Given the description of an element on the screen output the (x, y) to click on. 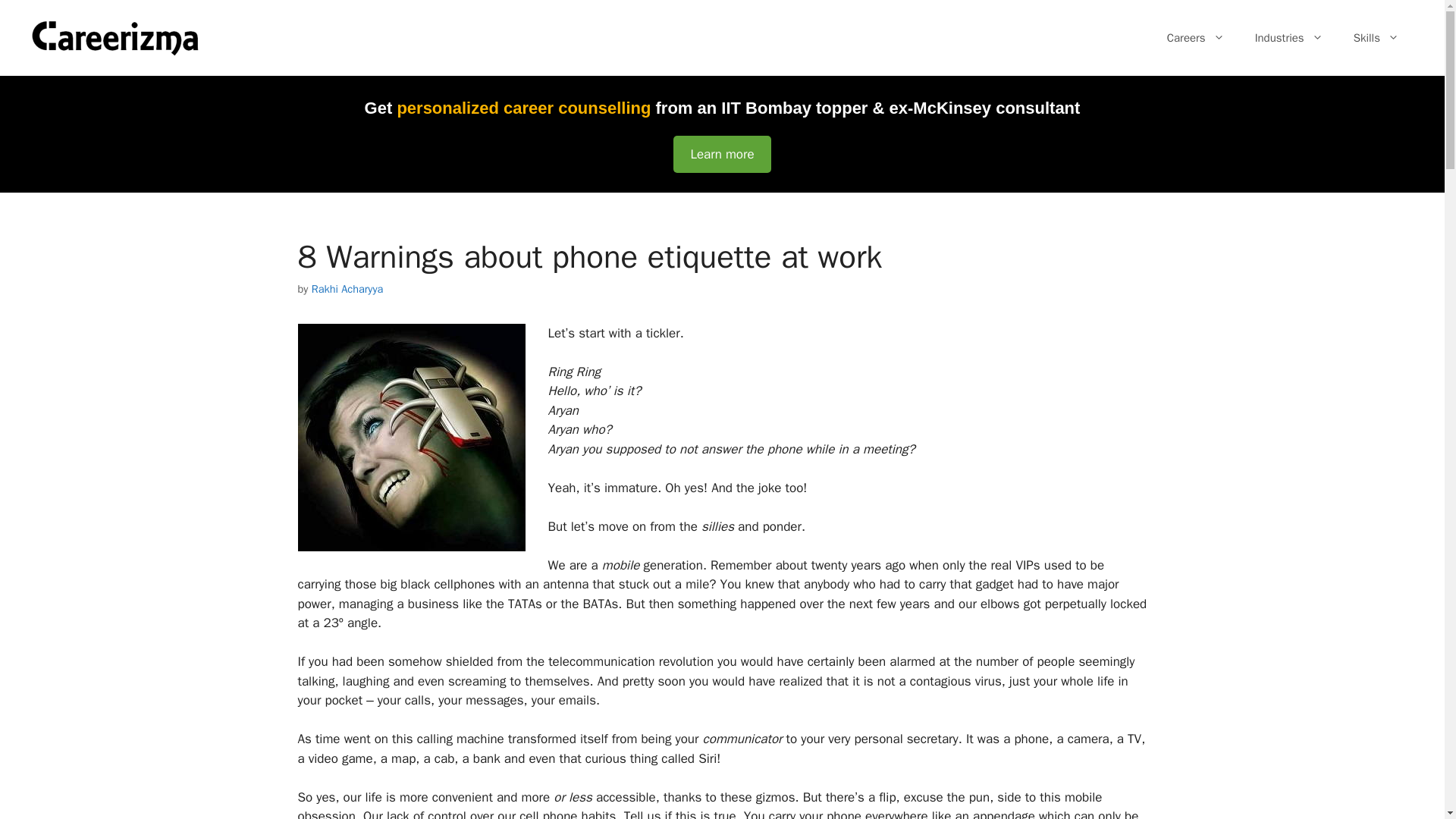
Skills (1375, 37)
Industries (1289, 37)
View all posts by Rakhi Acharyya (347, 288)
Careers (1195, 37)
